Given the description of an element on the screen output the (x, y) to click on. 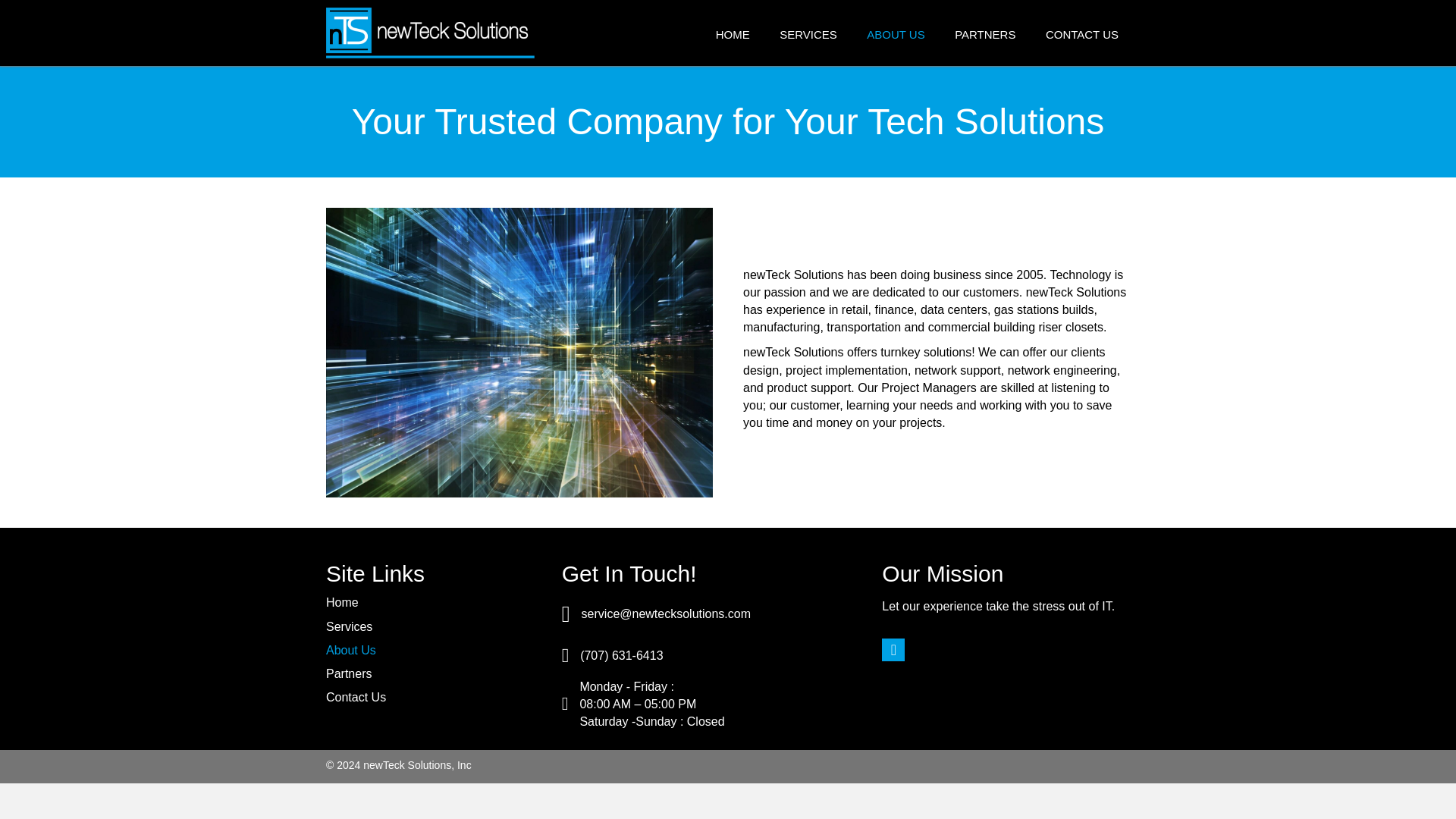
SERVICES (808, 34)
ABOUT US (896, 34)
Partners (348, 673)
Home (342, 602)
PARTNERS (984, 34)
HOME (732, 34)
CONTACT US (1081, 34)
Contact Us (355, 697)
About Us (350, 649)
Services (349, 626)
